Given the description of an element on the screen output the (x, y) to click on. 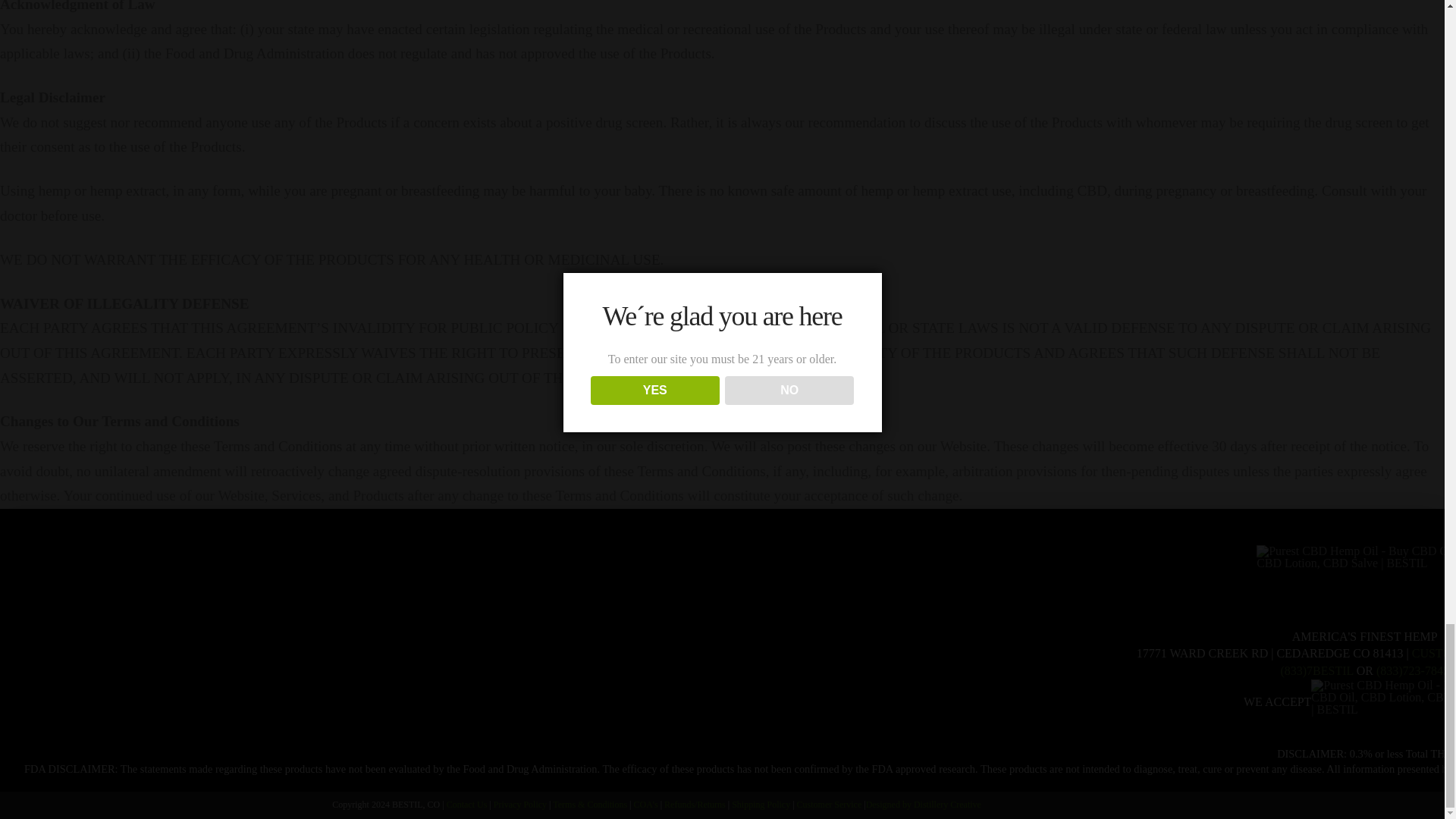
Shipping Policy (761, 804)
COA's (645, 804)
Privacy Policy (520, 804)
Designed by Distillery Creative (923, 804)
Customer Service (828, 804)
Contact Us (466, 804)
